Given the description of an element on the screen output the (x, y) to click on. 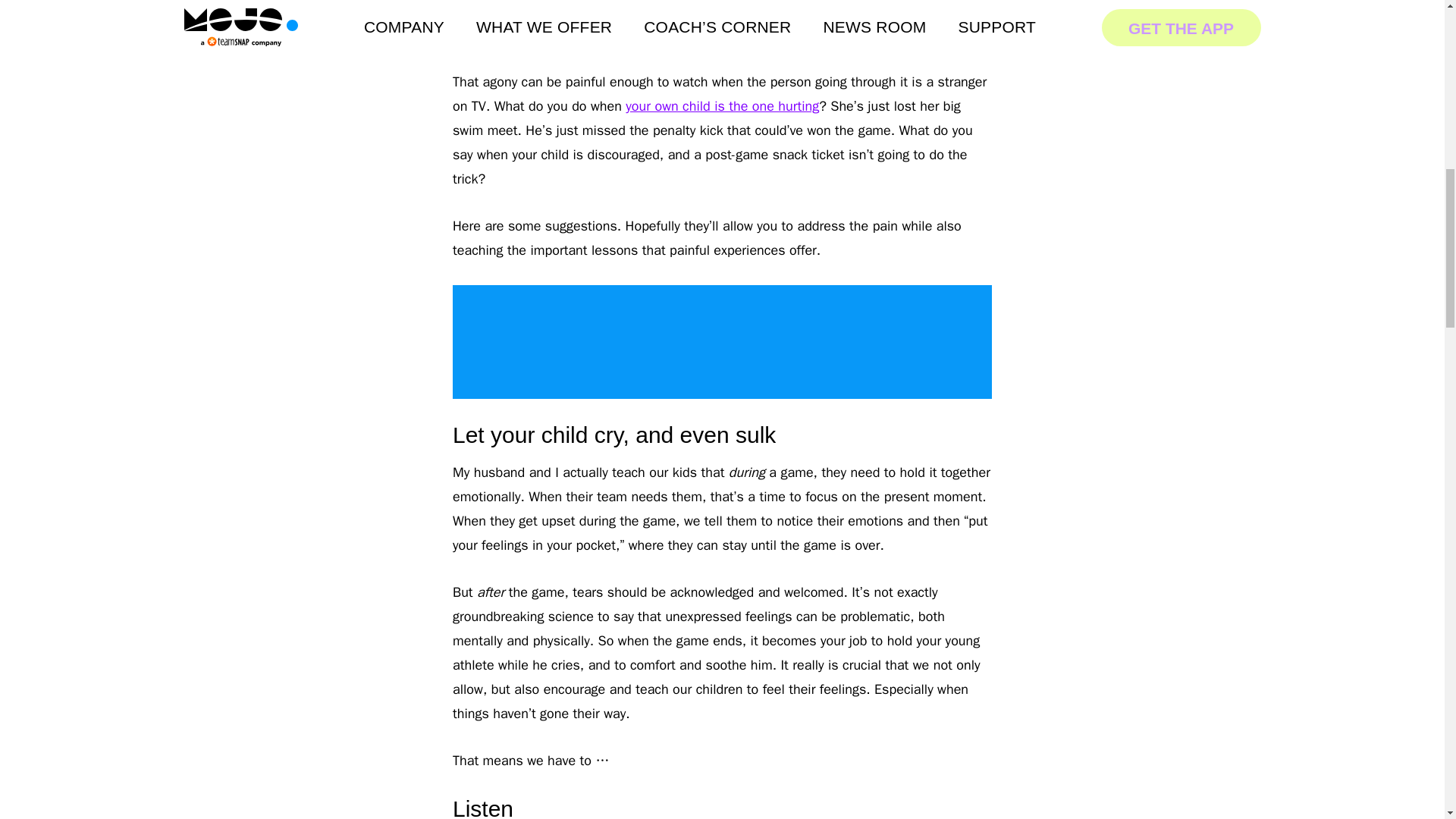
your own child is the one hurting (722, 105)
